Given the description of an element on the screen output the (x, y) to click on. 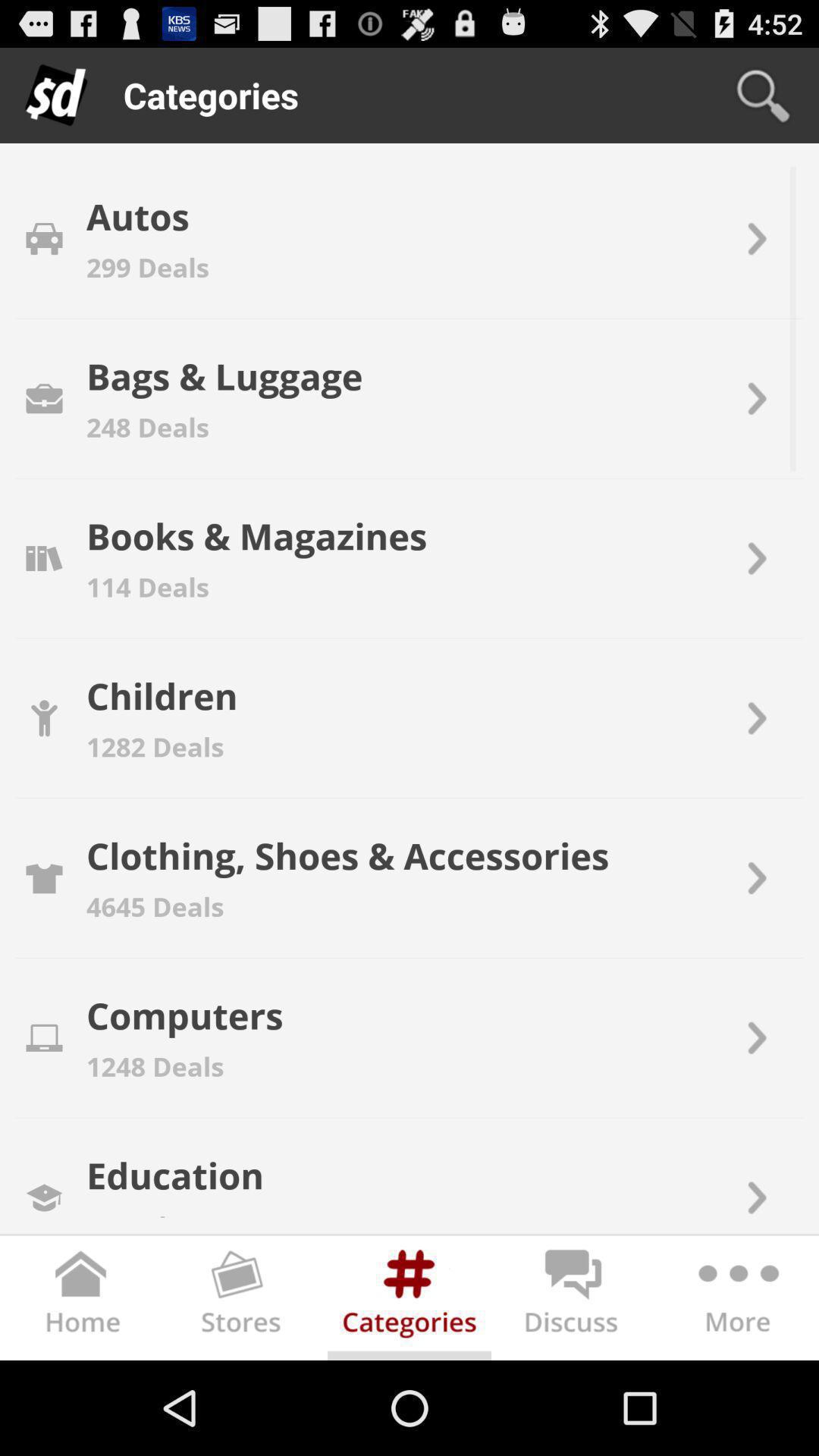
go to picture option (245, 1301)
